Given the description of an element on the screen output the (x, y) to click on. 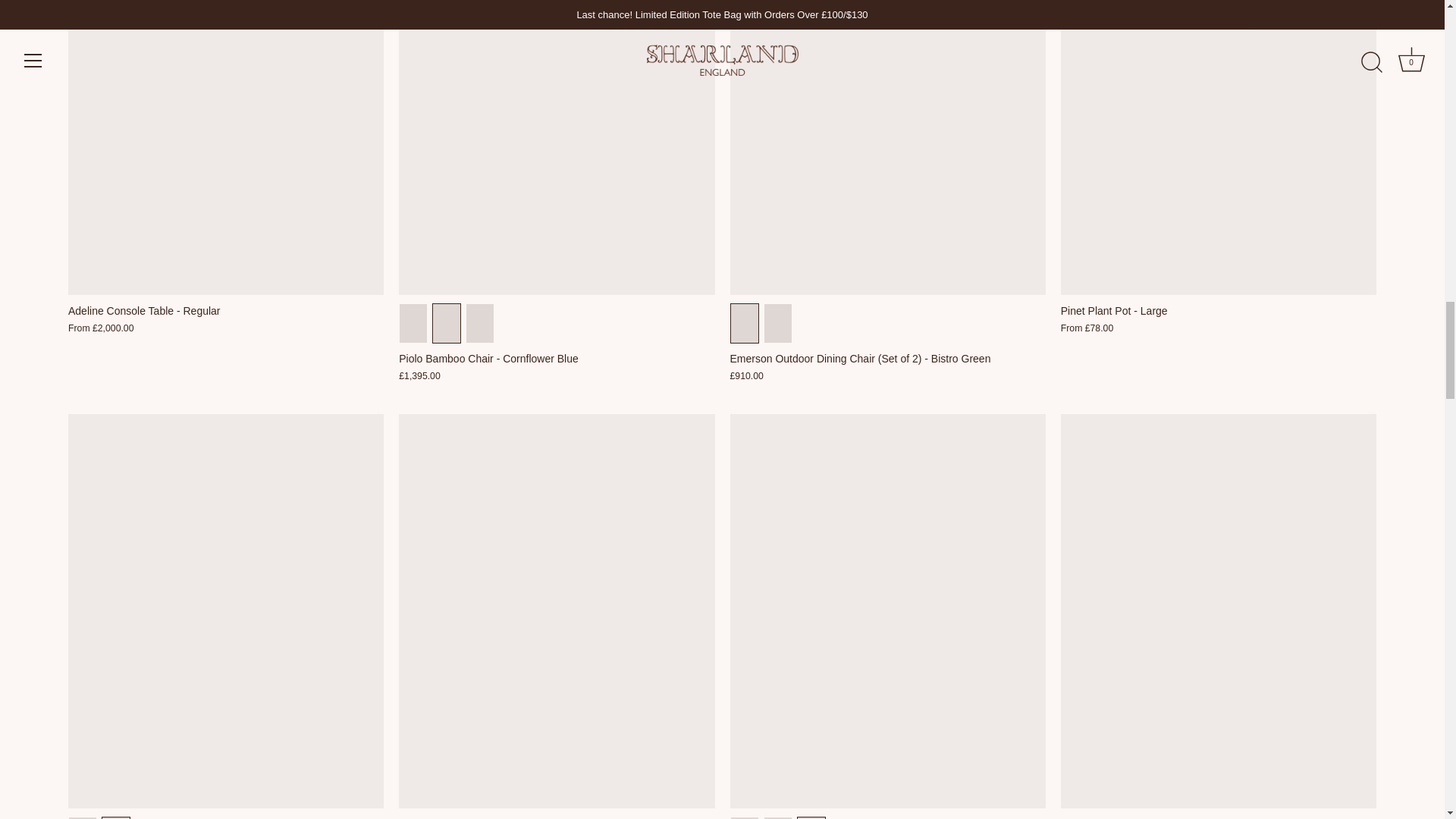
Clay (115, 818)
Bistro Green (82, 818)
Cornflower Blue (778, 818)
Brick Red (744, 818)
